Given the description of an element on the screen output the (x, y) to click on. 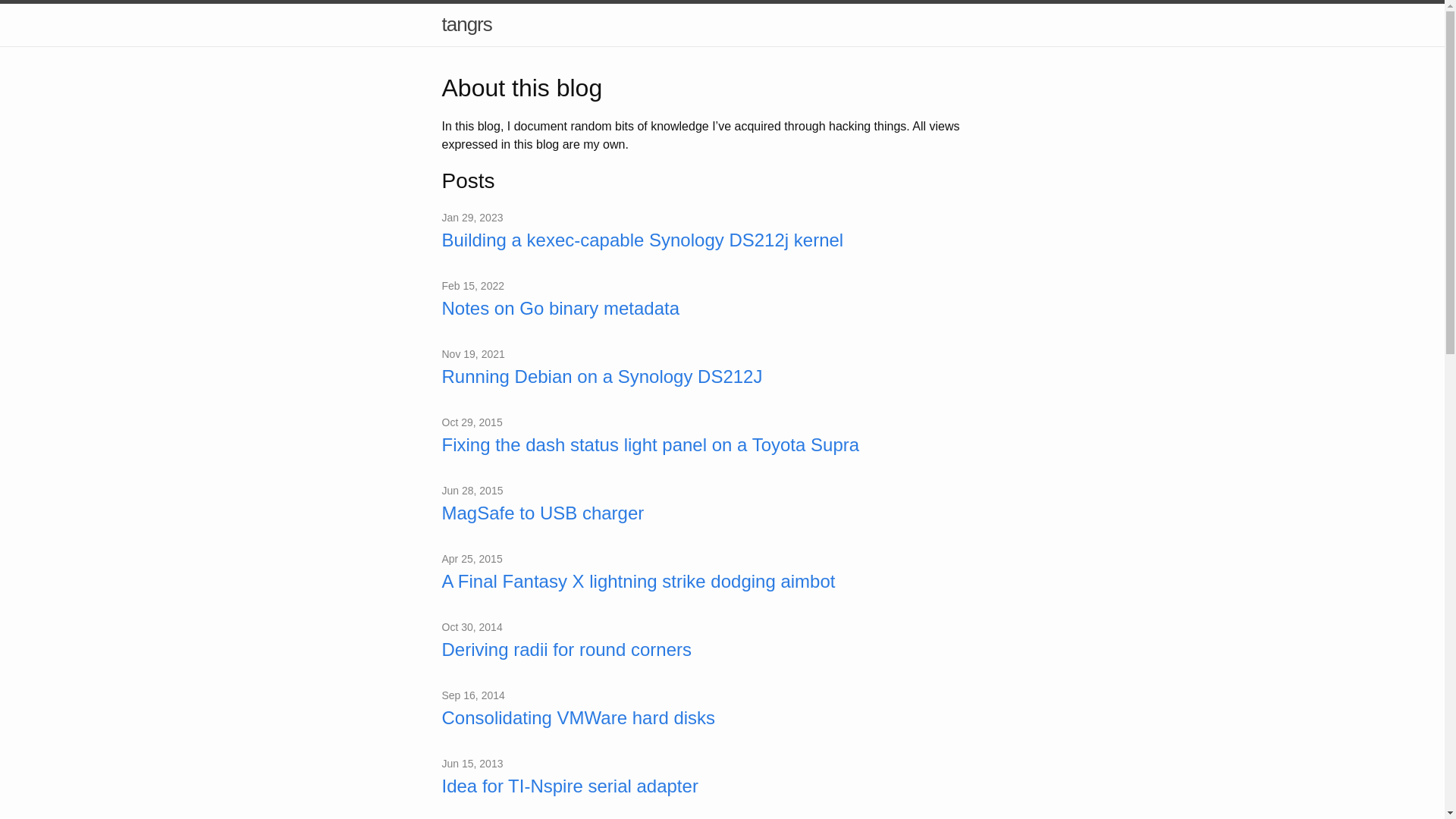
Idea for TI-Nspire serial adapter Element type: text (721, 786)
Consolidating VMWare hard disks Element type: text (721, 717)
Running Debian on a Synology DS212J Element type: text (721, 376)
Fixing the dash status light panel on a Toyota Supra Element type: text (721, 444)
tangrs Element type: text (466, 23)
Building a kexec-capable Synology DS212j kernel Element type: text (721, 240)
Notes on Go binary metadata Element type: text (721, 308)
A Final Fantasy X lightning strike dodging aimbot Element type: text (721, 581)
Deriving radii for round corners Element type: text (721, 649)
MagSafe to USB charger Element type: text (721, 513)
